Given the description of an element on the screen output the (x, y) to click on. 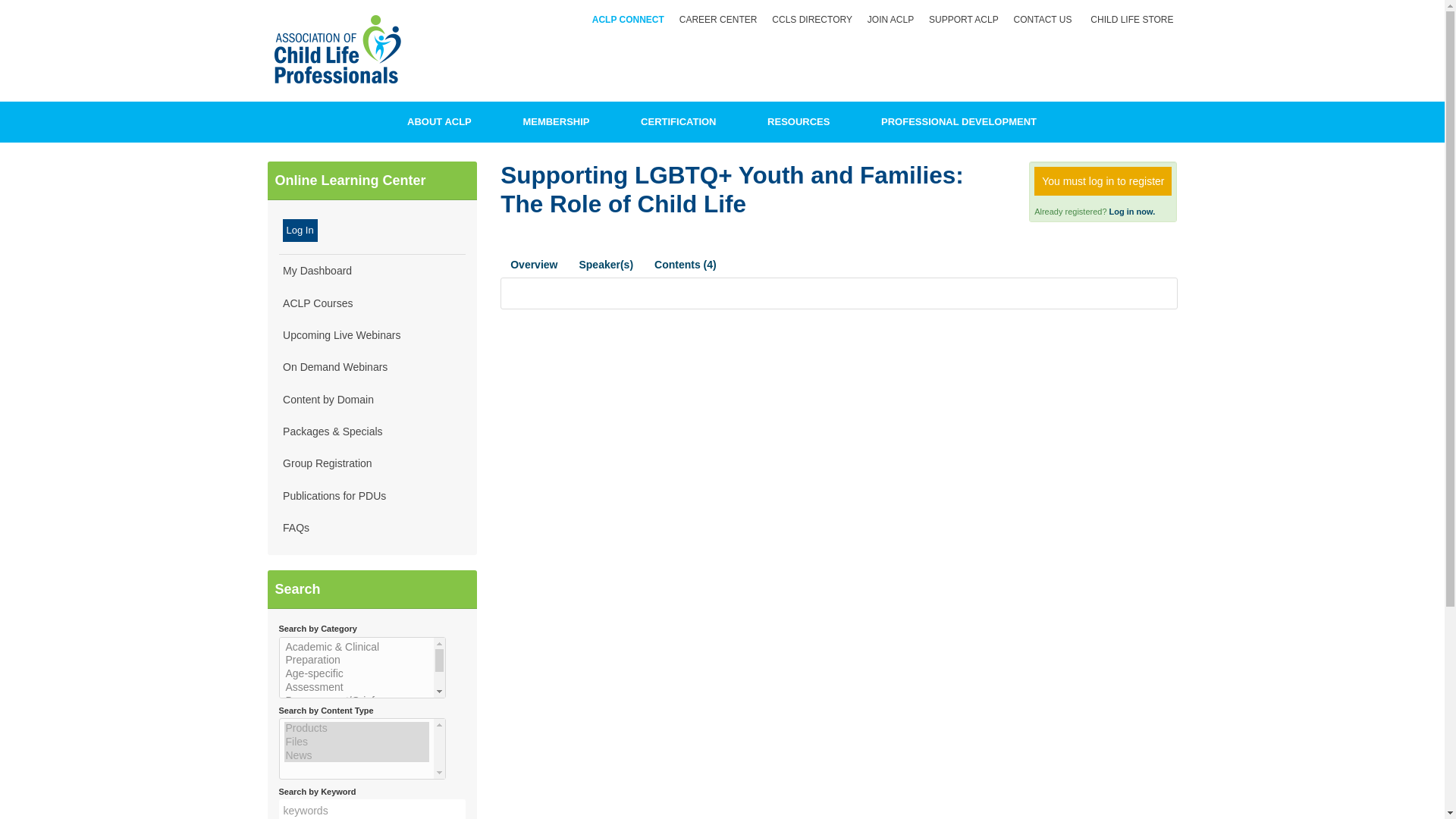
Log in now. (1132, 211)
JOIN ACLP (888, 19)
CHILD LIFE STORE (1128, 19)
CAREER CENTER (716, 19)
ABOUT ACLP (438, 121)
RESOURCES (798, 121)
Log In (299, 230)
MEMBERSHIP (556, 121)
Select type (362, 748)
CCLS DIRECTORY (809, 19)
